Given the description of an element on the screen output the (x, y) to click on. 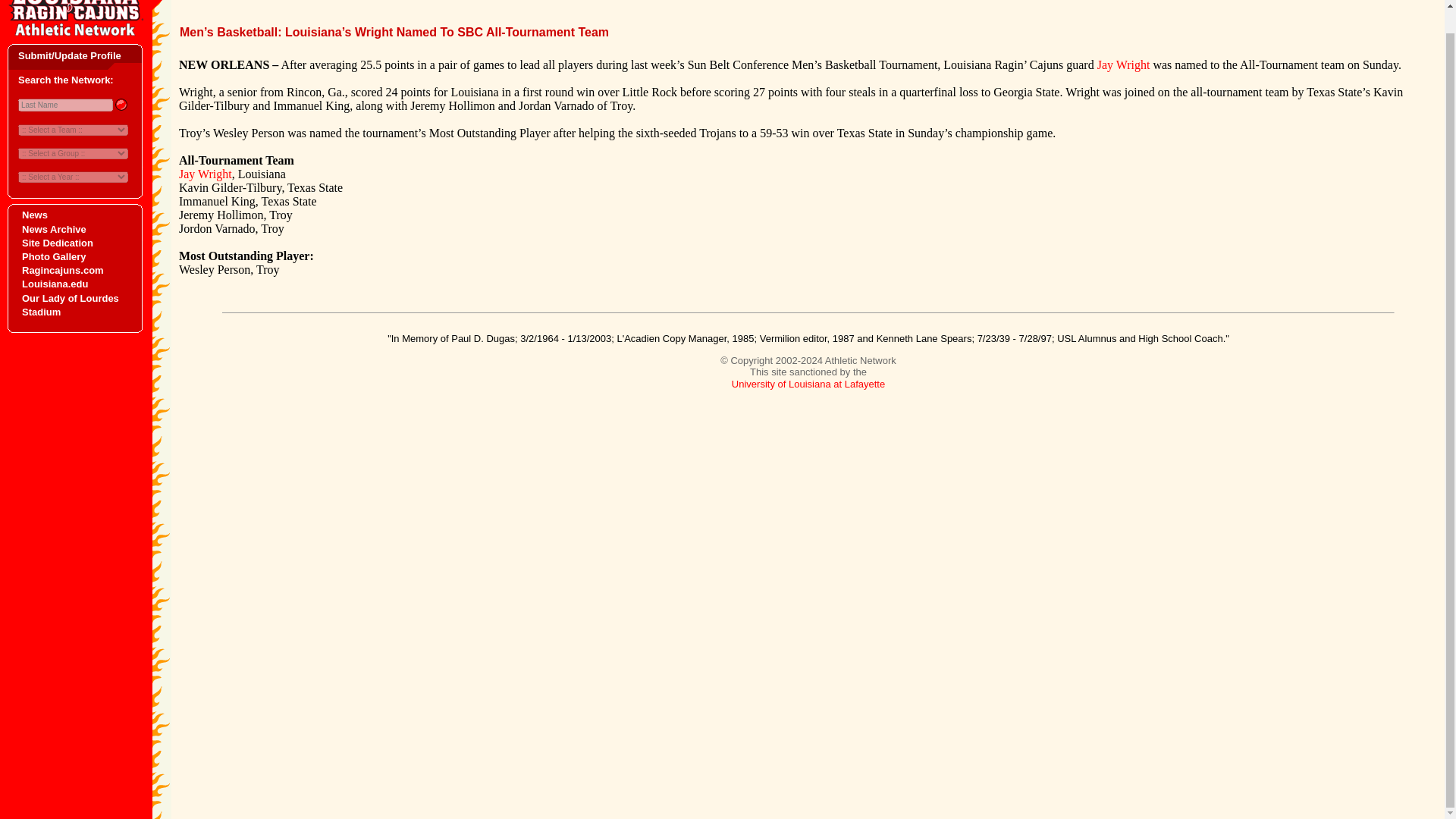
Our Lady of Lourdes Stadium (70, 303)
Louisiana.edu (54, 283)
University of Louisiana at Lafayette (808, 383)
News (34, 214)
Jay Wright (1123, 64)
News Archive (53, 229)
Ragincajuns.com (62, 270)
Submit (120, 104)
Site Dedication (57, 242)
Jay Wright (205, 173)
Photo Gallery (53, 256)
